Given the description of an element on the screen output the (x, y) to click on. 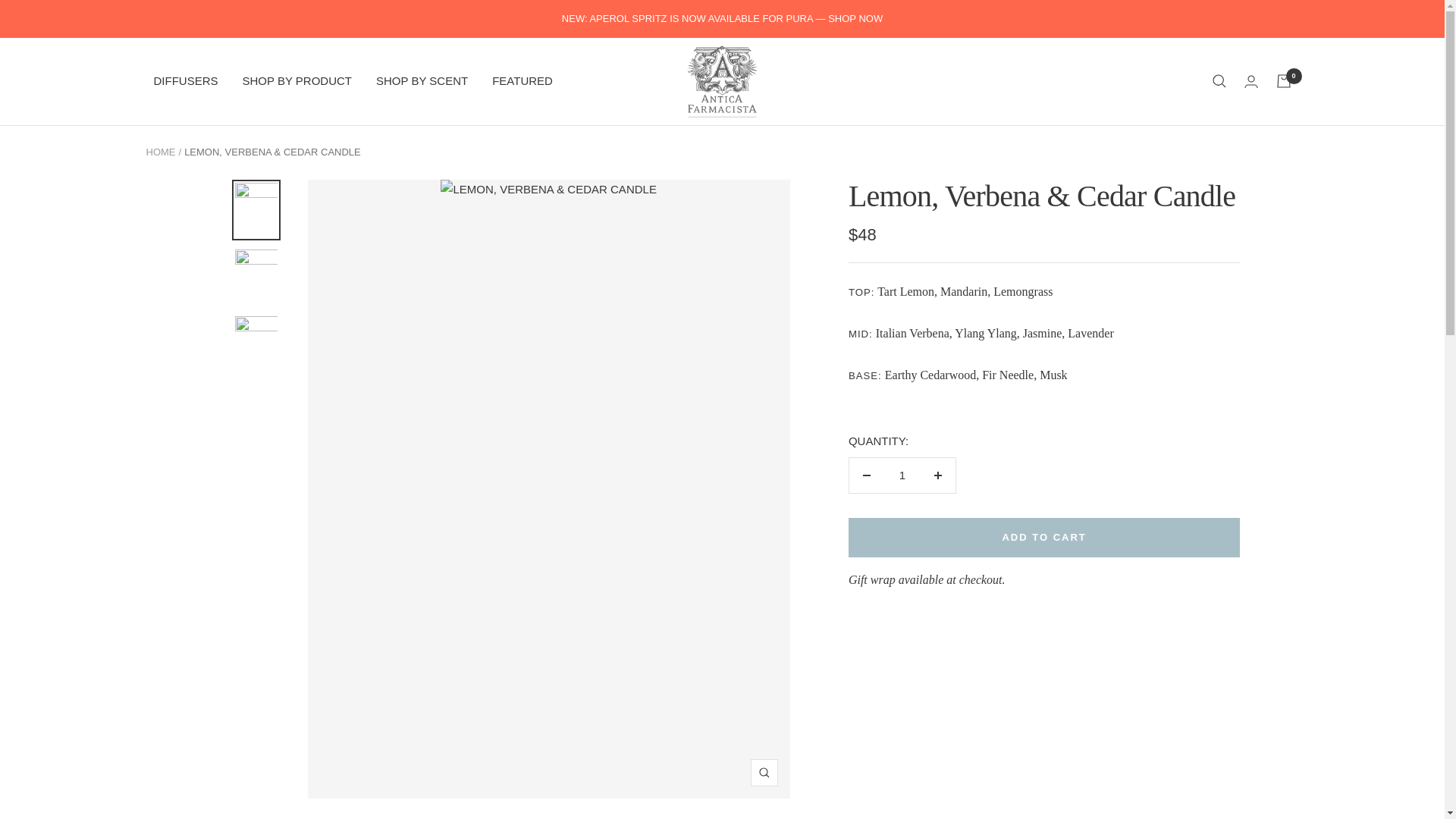
DIFFUSERS (184, 80)
ANTICA FARMACISTA (721, 81)
0 (1282, 80)
SHOP BY SCENT (421, 80)
FEATURED (522, 80)
1 (901, 475)
SHOP BY PRODUCT (297, 80)
